Given the description of an element on the screen output the (x, y) to click on. 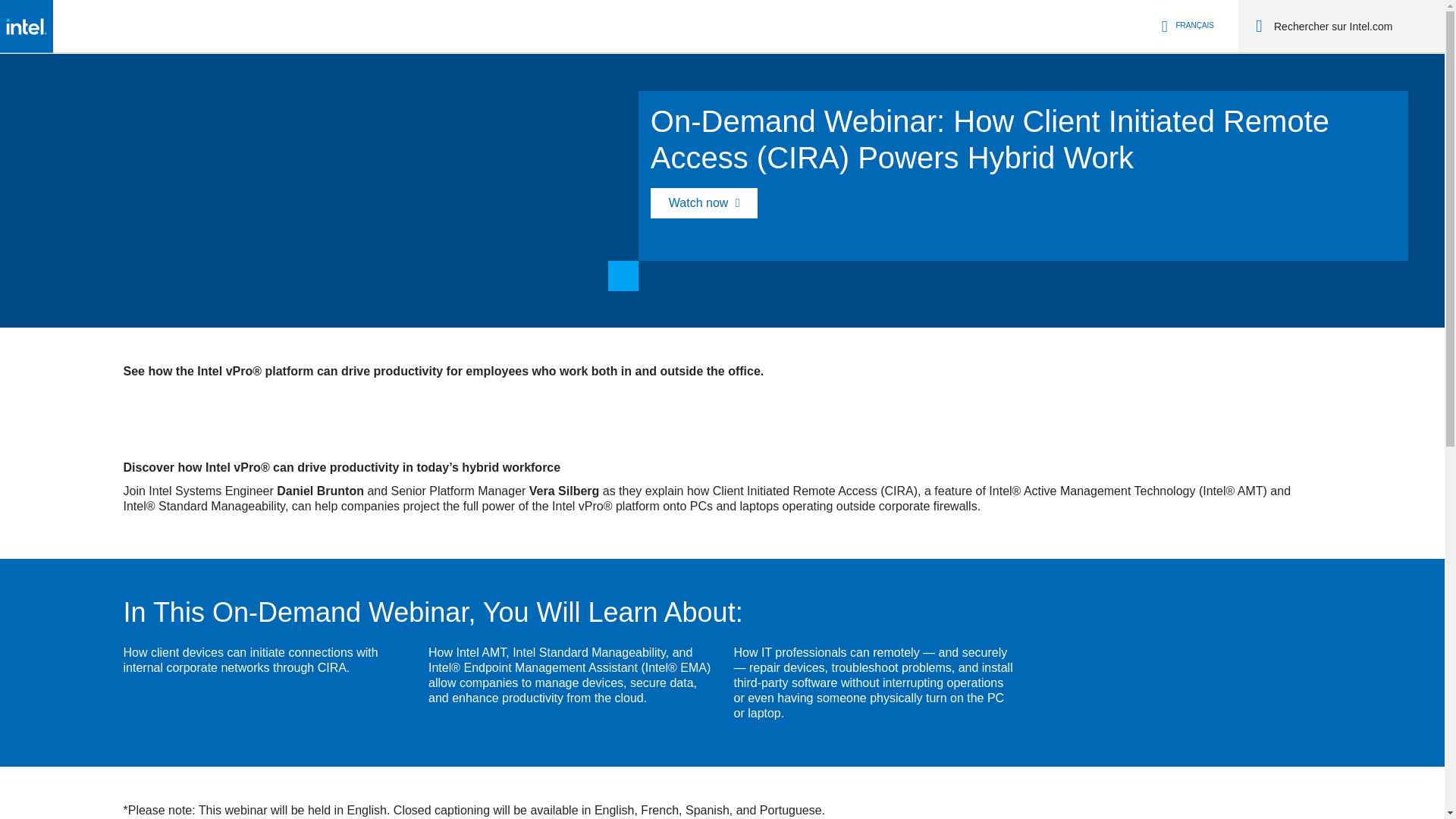
Language Selector (1185, 26)
Watch now (704, 203)
Recherche (1259, 26)
